Given the description of an element on the screen output the (x, y) to click on. 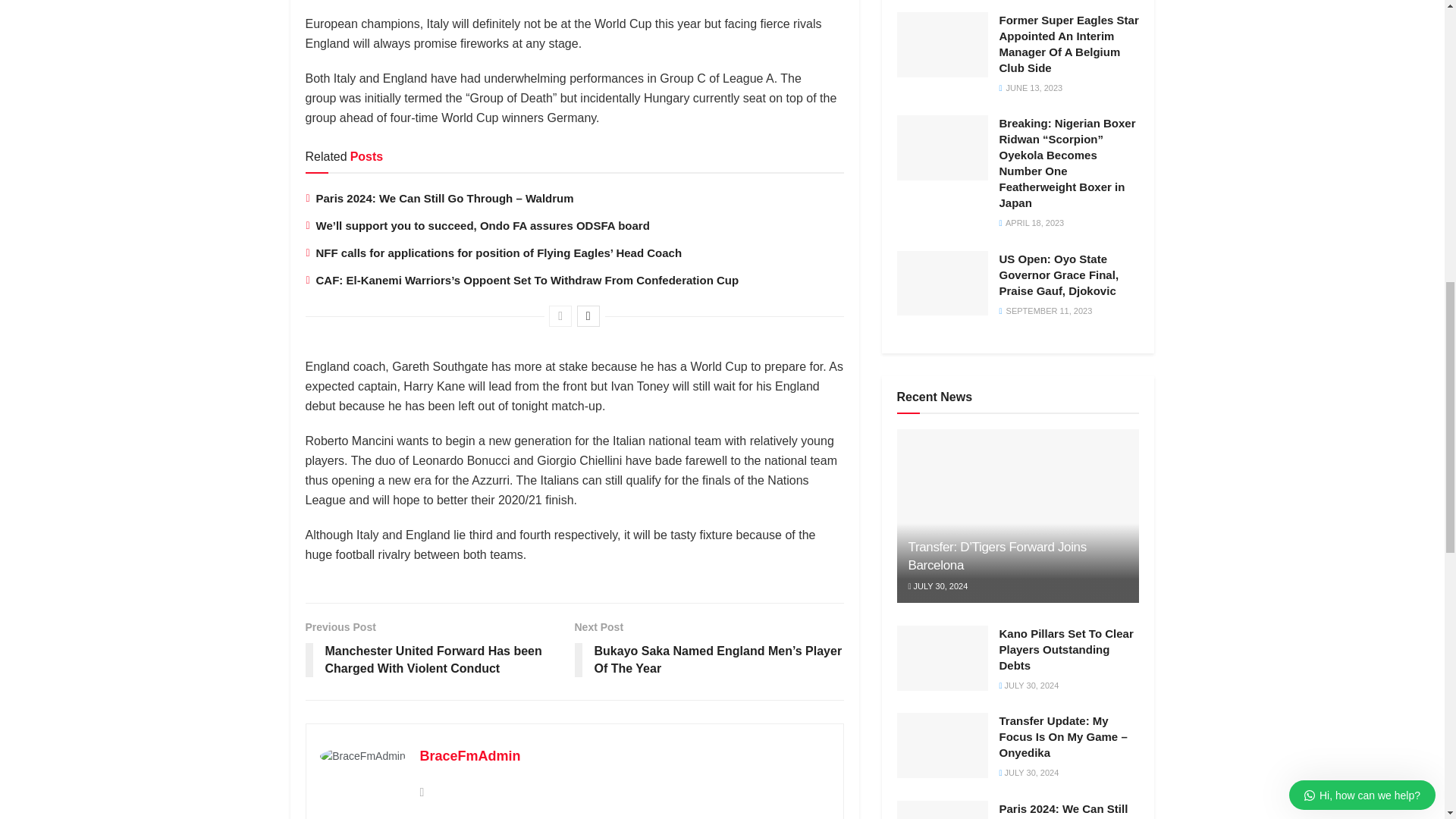
Next (587, 315)
Previous (560, 315)
